Given the description of an element on the screen output the (x, y) to click on. 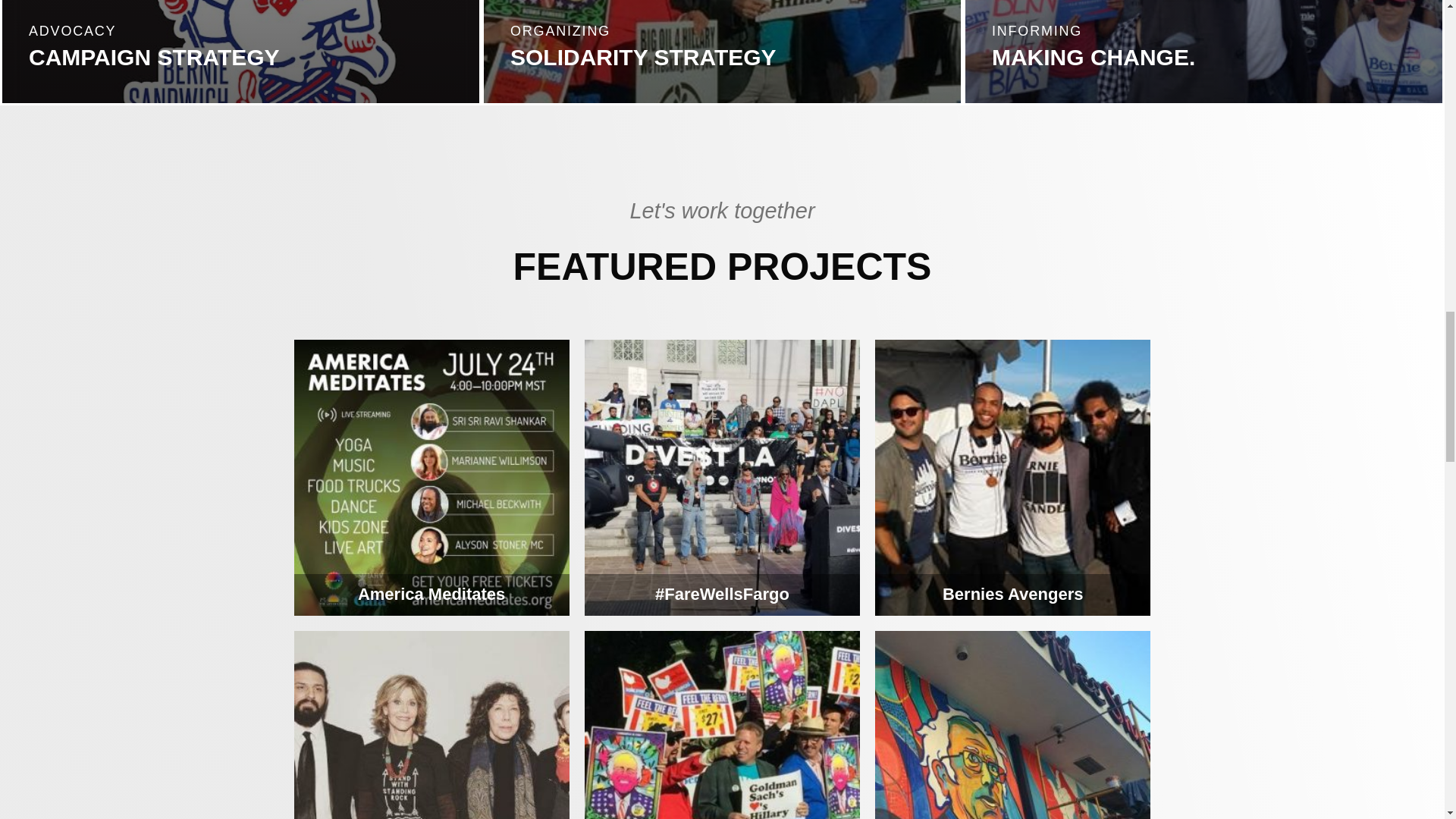
CAMPAIGN STRATEGY (154, 57)
Clooney Counter Party (722, 724)
MAKING CHANGE. (1093, 57)
SOLIDARITY STRATEGY (643, 57)
Bernie's Diner (1012, 724)
America Meditates (431, 477)
Bernies Avengers (1012, 477)
